Given the description of an element on the screen output the (x, y) to click on. 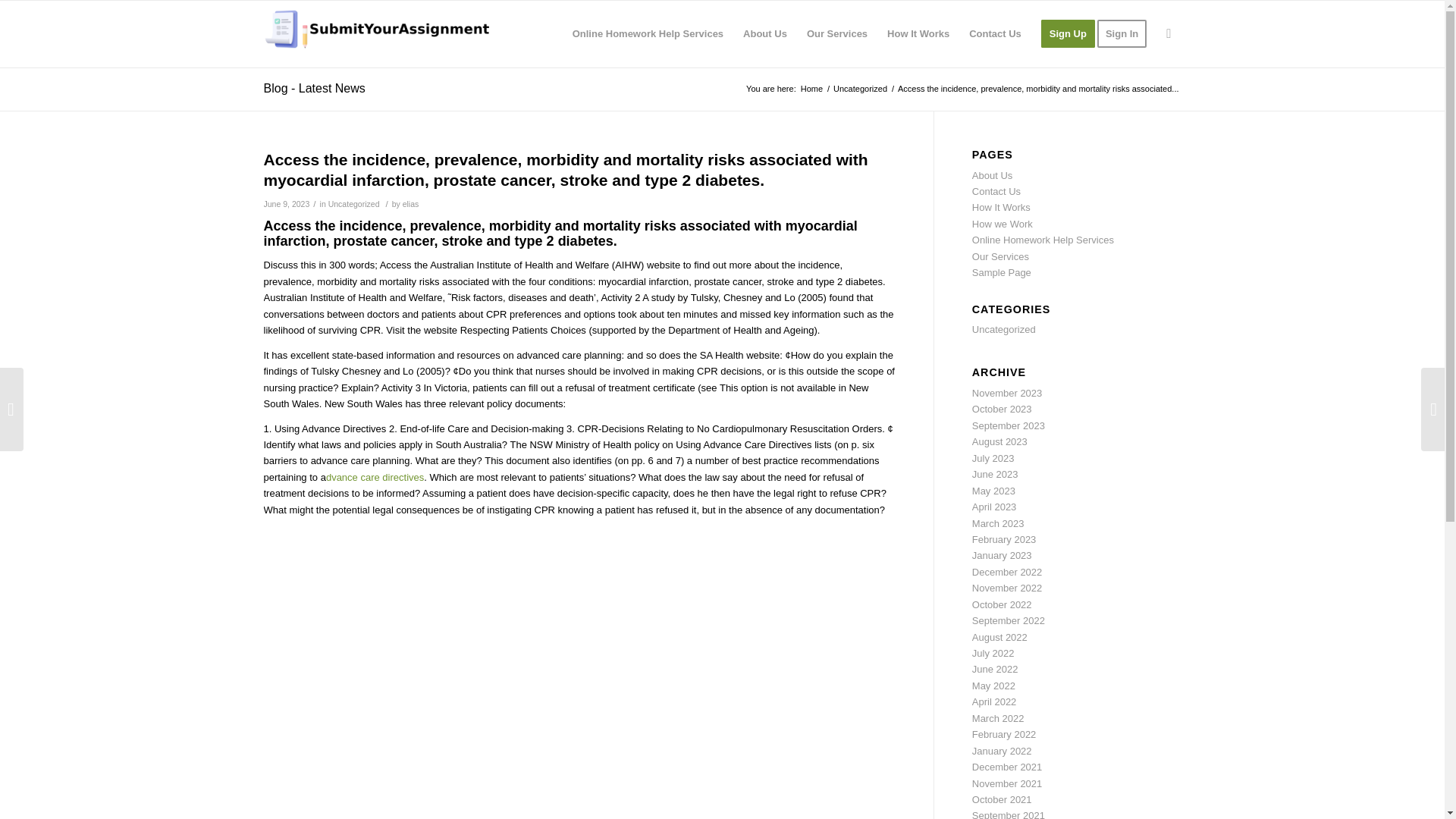
September 2022 (1008, 620)
Contact Us (994, 33)
June 2023 (994, 473)
elias (411, 203)
Sign Up (1067, 33)
Permanent Link: Blog - Latest News (314, 88)
How we Work (1002, 224)
October 2023 (1002, 408)
March 2023 (998, 523)
Submityourassignments (811, 89)
